Given the description of an element on the screen output the (x, y) to click on. 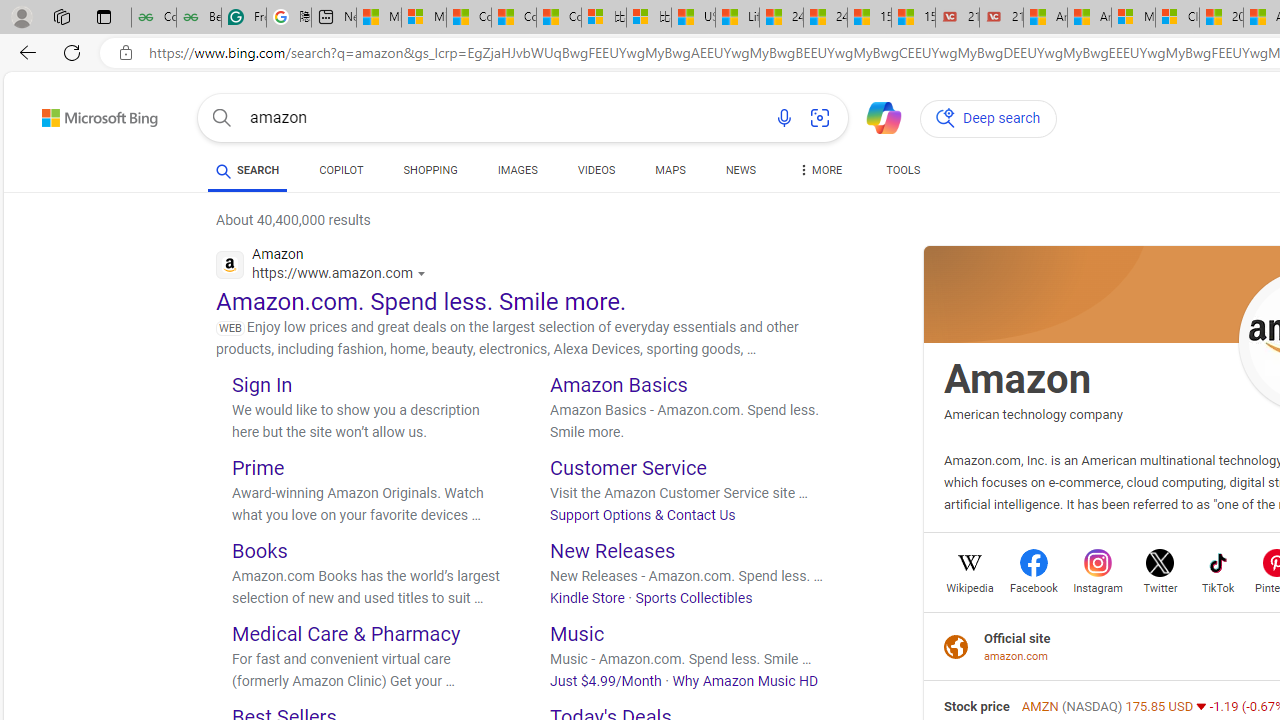
Facebook (1033, 586)
Search button (221, 117)
Amazon.com. Spend less. Smile more. (421, 301)
Actions for this site (424, 273)
Wikipedia (969, 586)
Medical Care & Pharmacy (345, 632)
Prime (258, 467)
Books (259, 550)
Sports Collectibles (693, 597)
TOOLS (903, 173)
amazon.com (1017, 655)
